Given the description of an element on the screen output the (x, y) to click on. 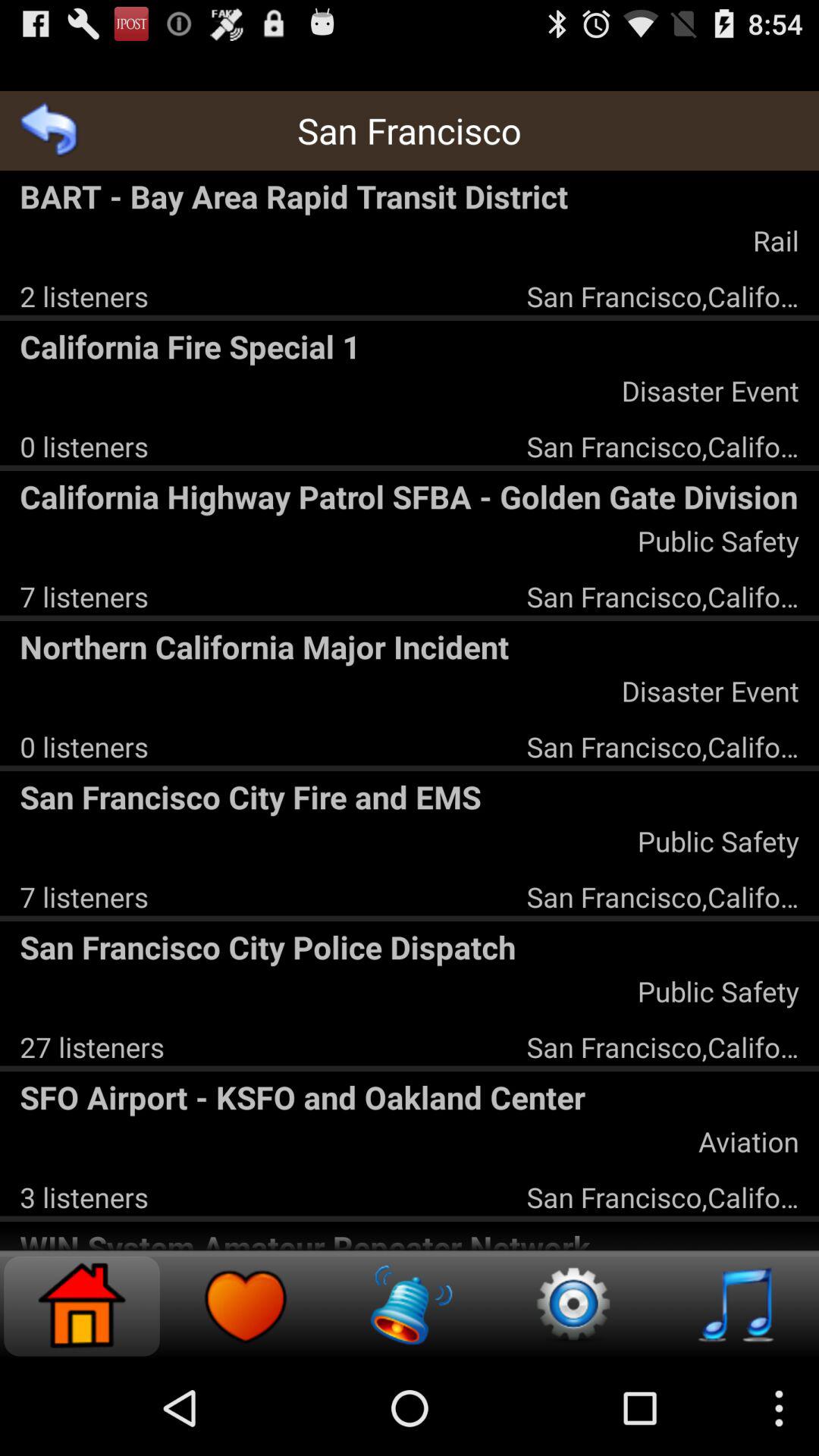
swipe until 2 listeners app (83, 296)
